Given the description of an element on the screen output the (x, y) to click on. 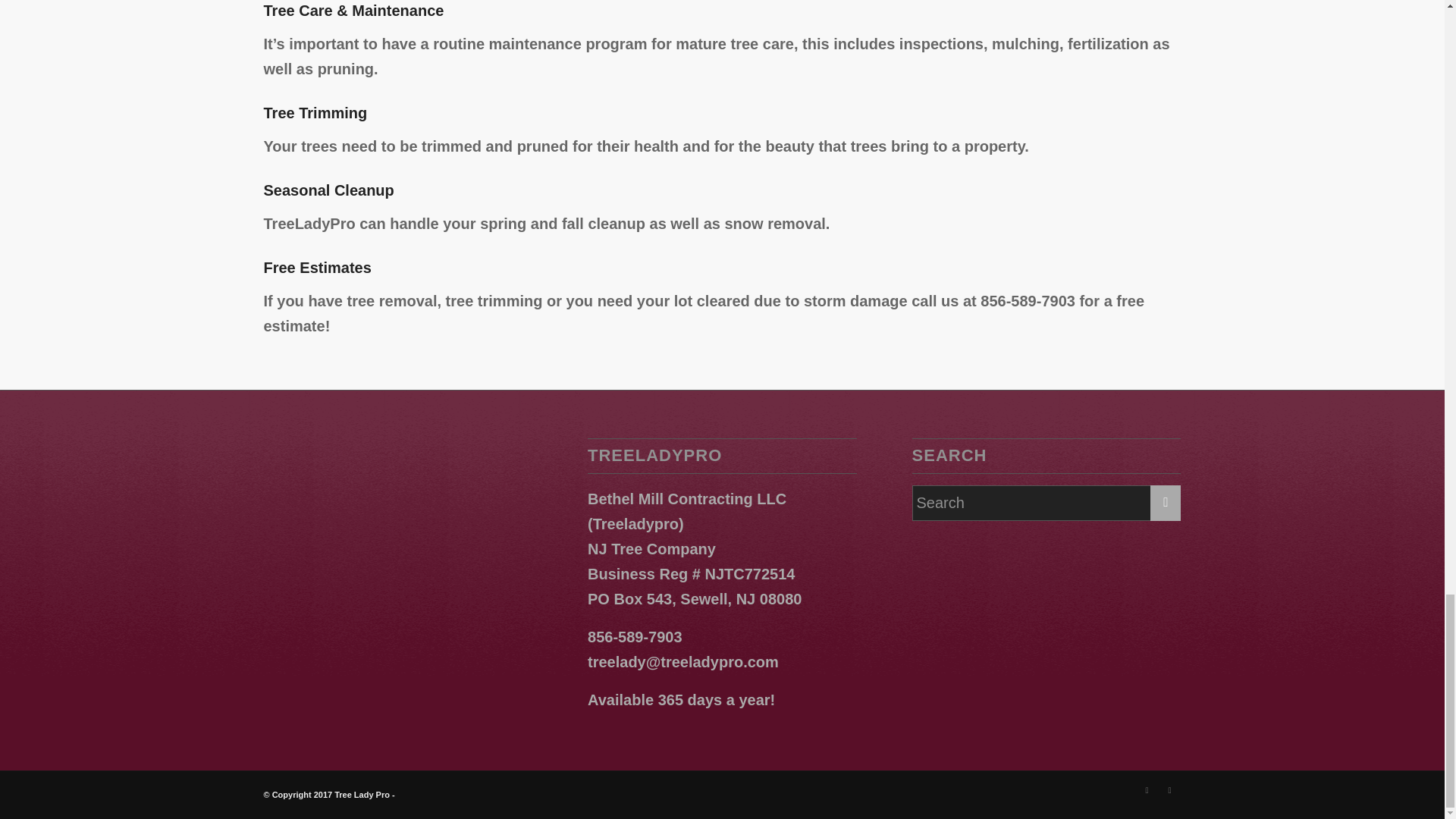
Instagram (1169, 789)
Facebook (1146, 789)
856-589-7903 (635, 636)
